Given the description of an element on the screen output the (x, y) to click on. 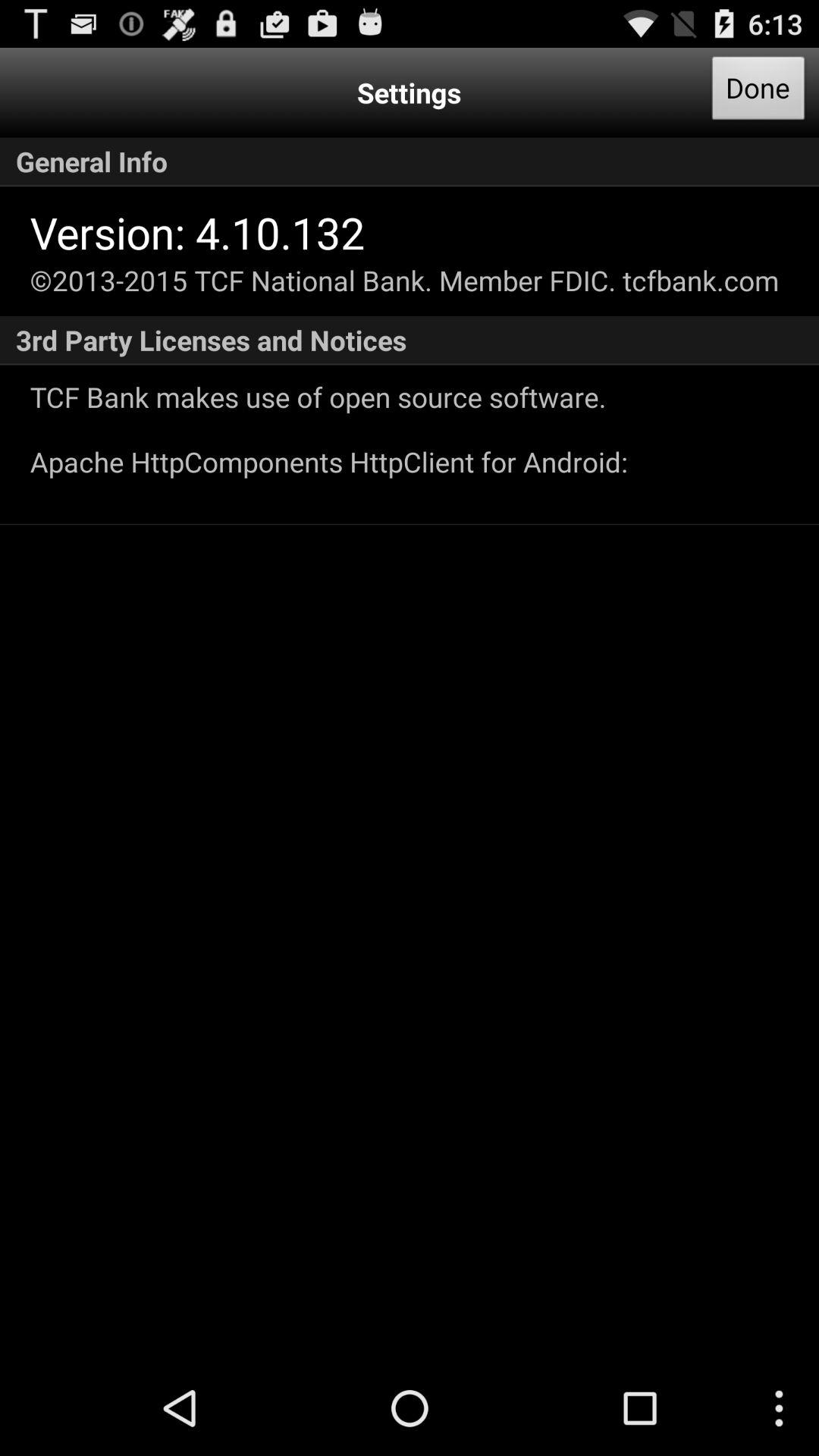
tap done (758, 92)
